Given the description of an element on the screen output the (x, y) to click on. 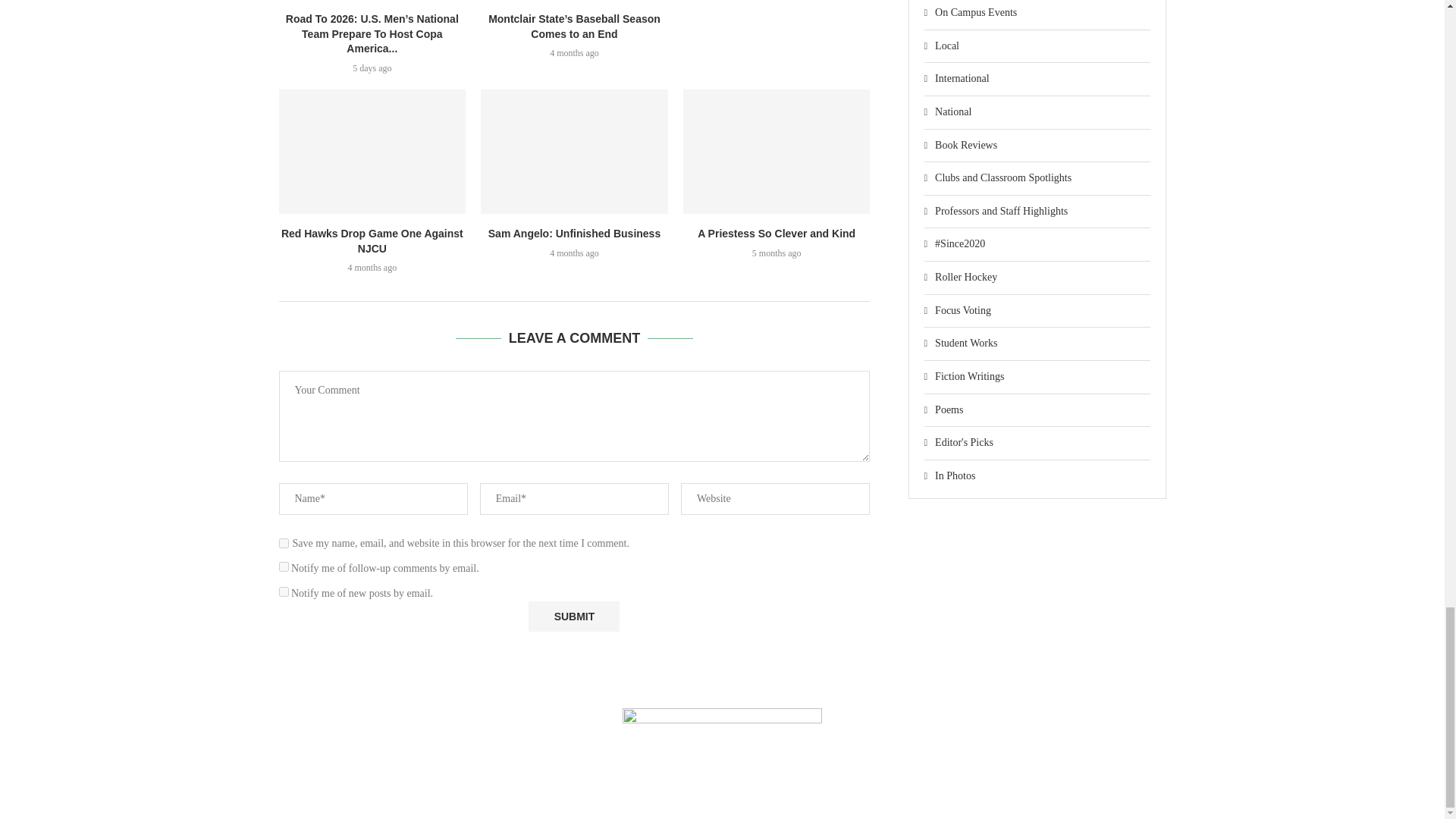
Red Hawks Drop Game One Against NJCU (372, 151)
Sam Angelo: Unfinished Business (574, 151)
subscribe (283, 566)
subscribe (283, 592)
Submit (574, 616)
yes (283, 542)
A Priestess So Clever and Kind (776, 151)
